Given the description of an element on the screen output the (x, y) to click on. 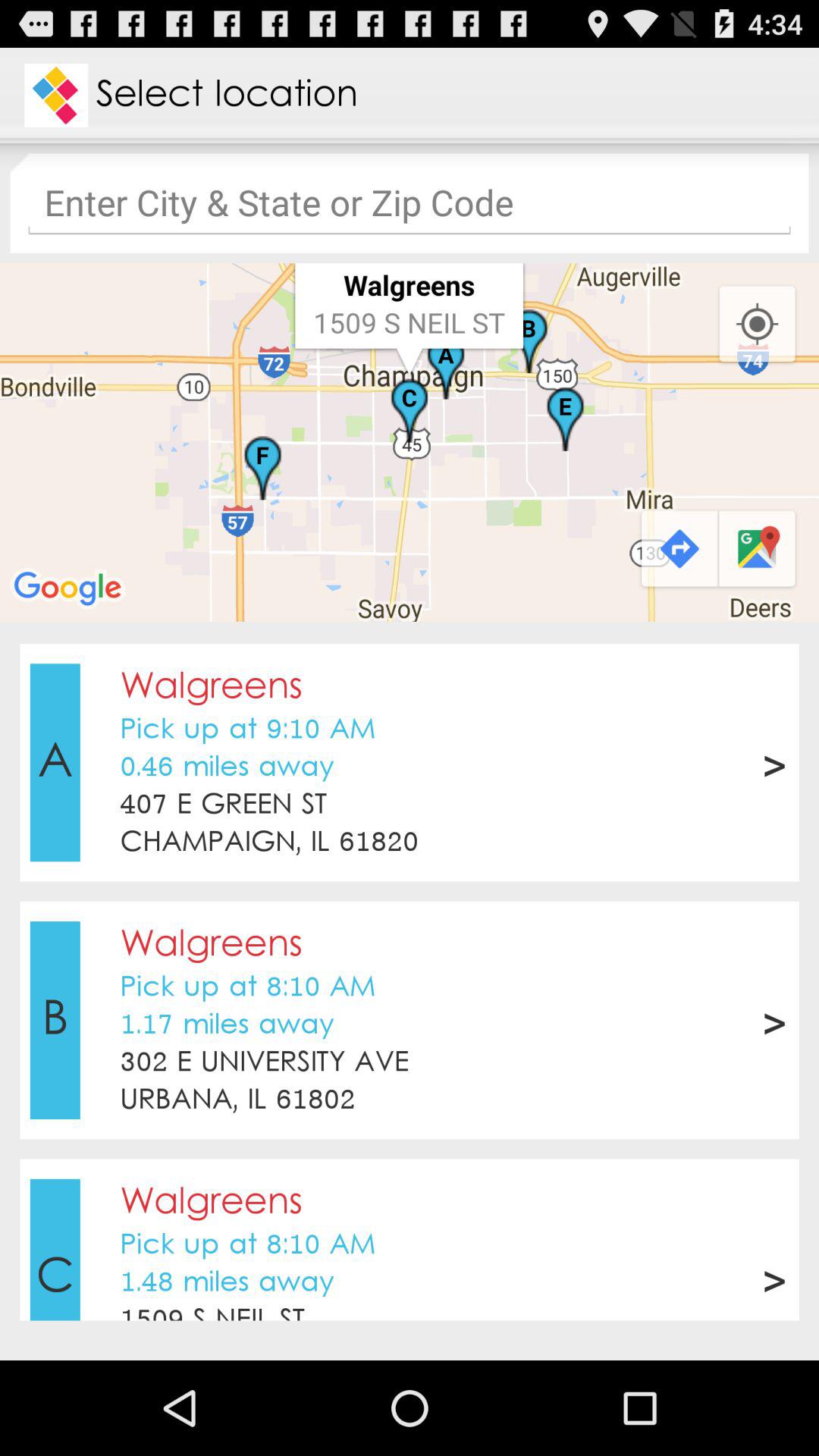
press item to the left of the pick up at (54, 1020)
